Given the description of an element on the screen output the (x, y) to click on. 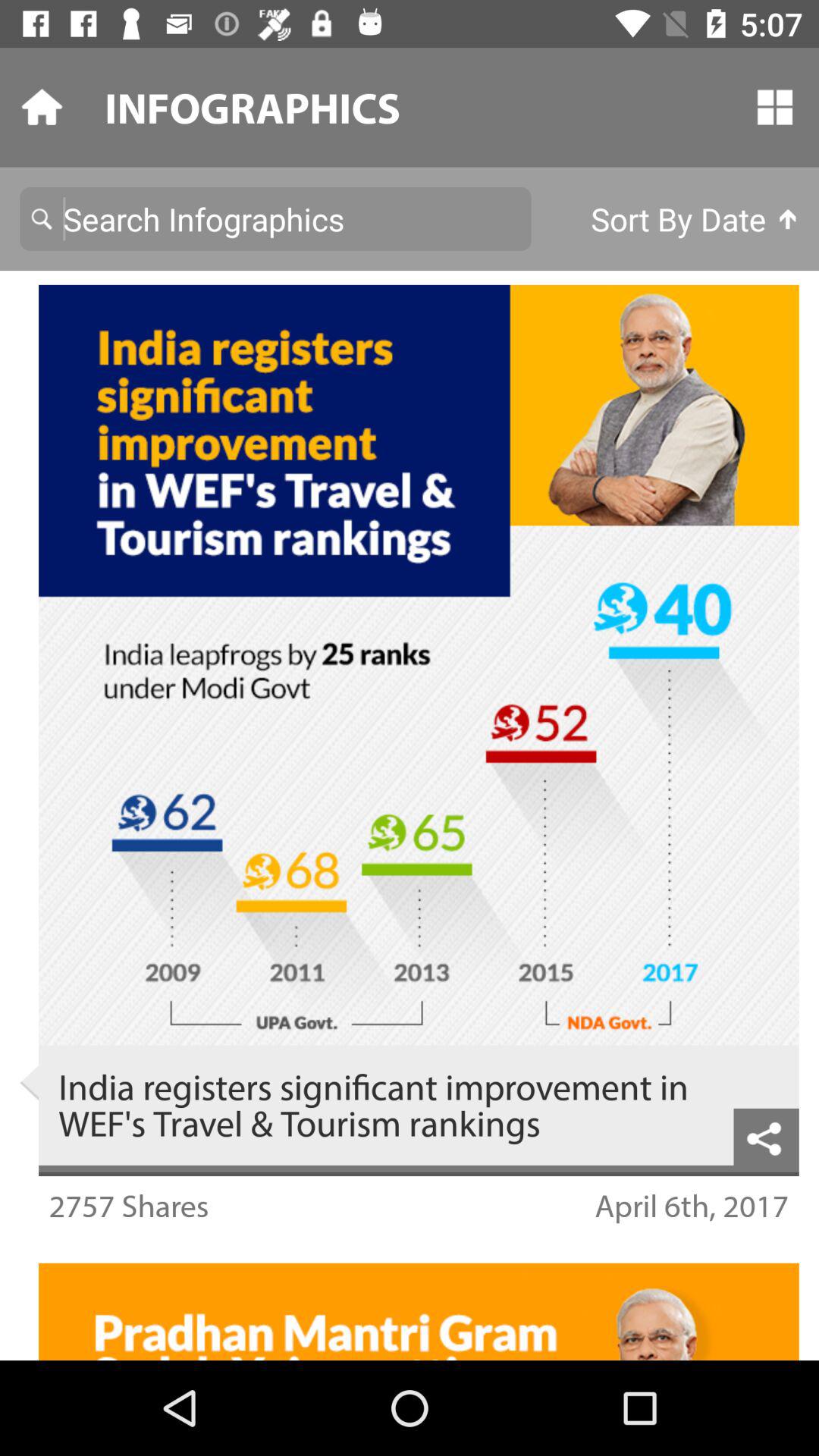
flip until sort by date item (694, 218)
